Given the description of an element on the screen output the (x, y) to click on. 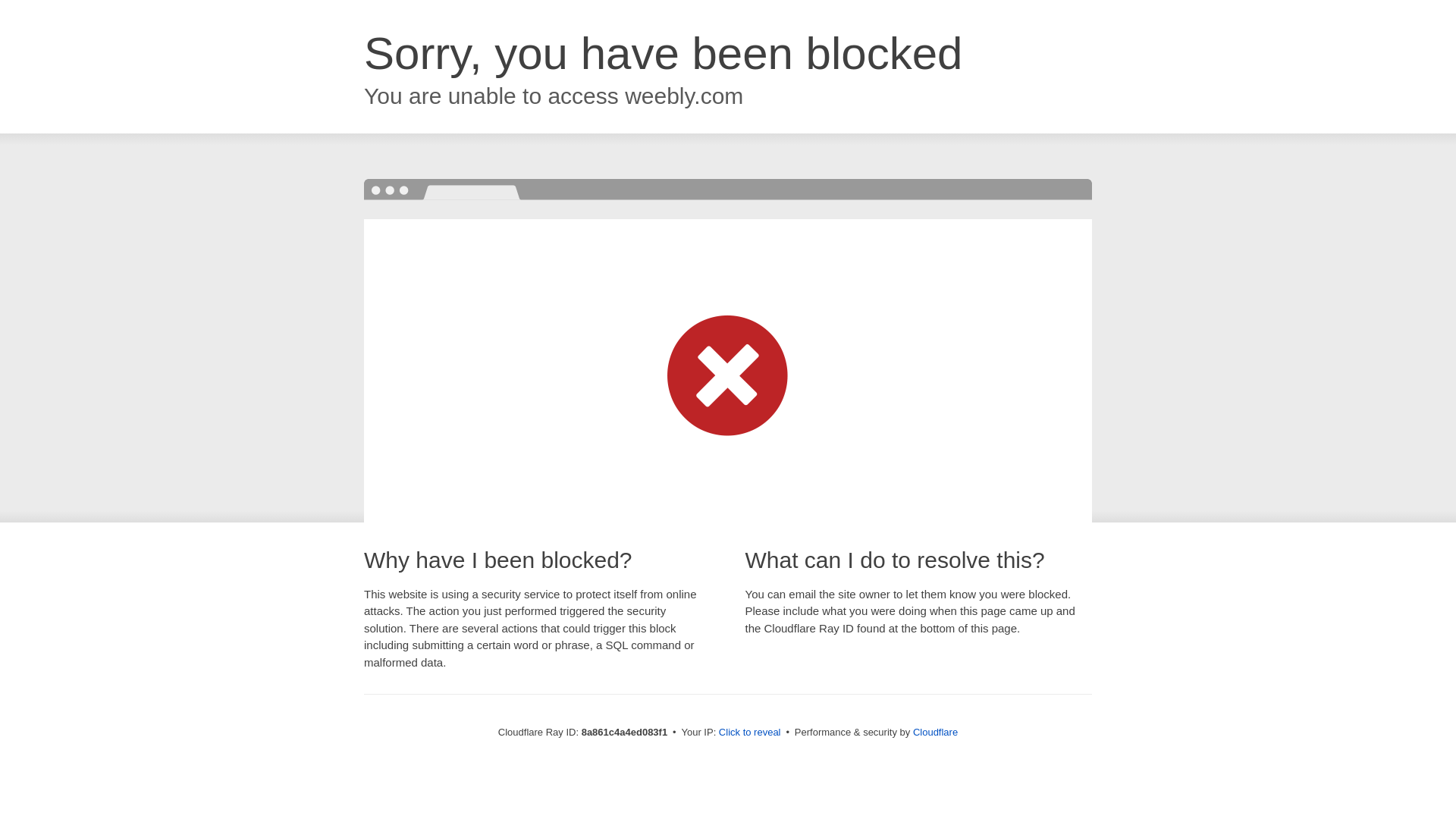
Cloudflare (935, 731)
Click to reveal (749, 732)
